Given the description of an element on the screen output the (x, y) to click on. 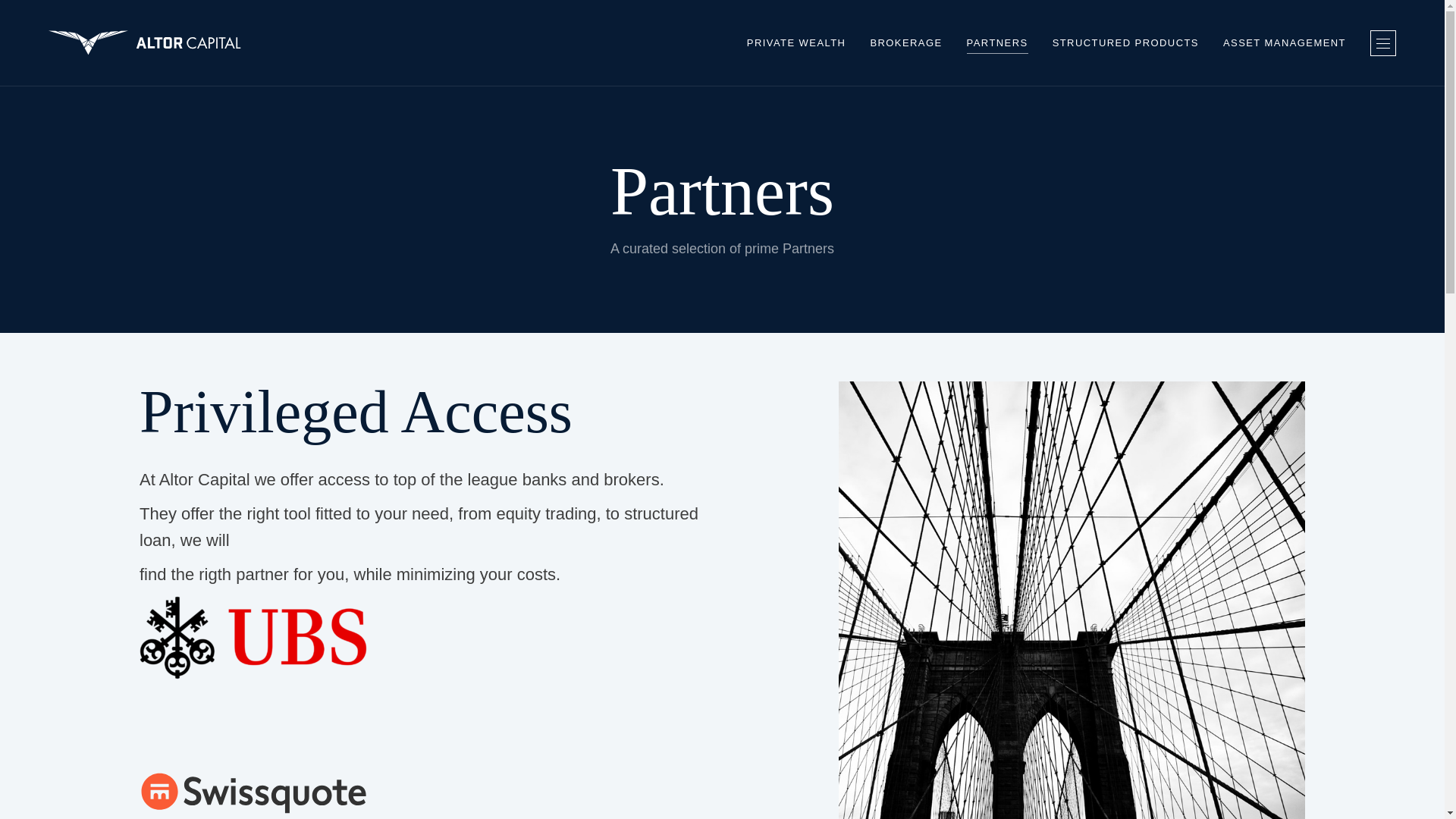
STRUCTURED PRODUCTS (1125, 42)
BROKERAGE (905, 42)
Altor Capital (144, 42)
ASSET MANAGEMENT (1284, 42)
PRIVATE WEALTH (795, 42)
PARTNERS (996, 42)
